Given the description of an element on the screen output the (x, y) to click on. 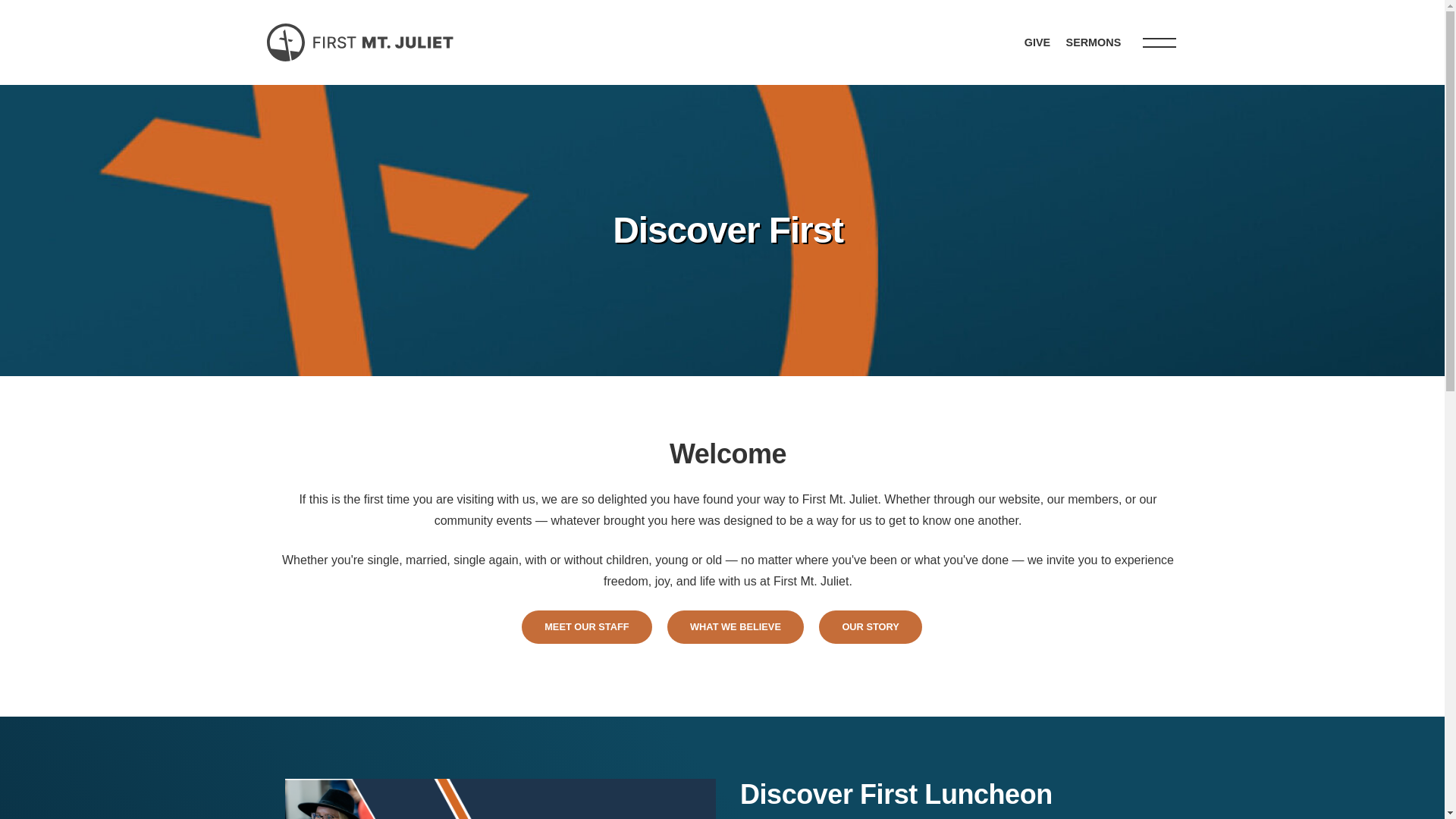
GIVE (1037, 42)
WHAT WE BELIEVE (734, 626)
SERMONS (1093, 42)
MEET OUR STAFF (585, 626)
OUR STORY (869, 626)
